Given the description of an element on the screen output the (x, y) to click on. 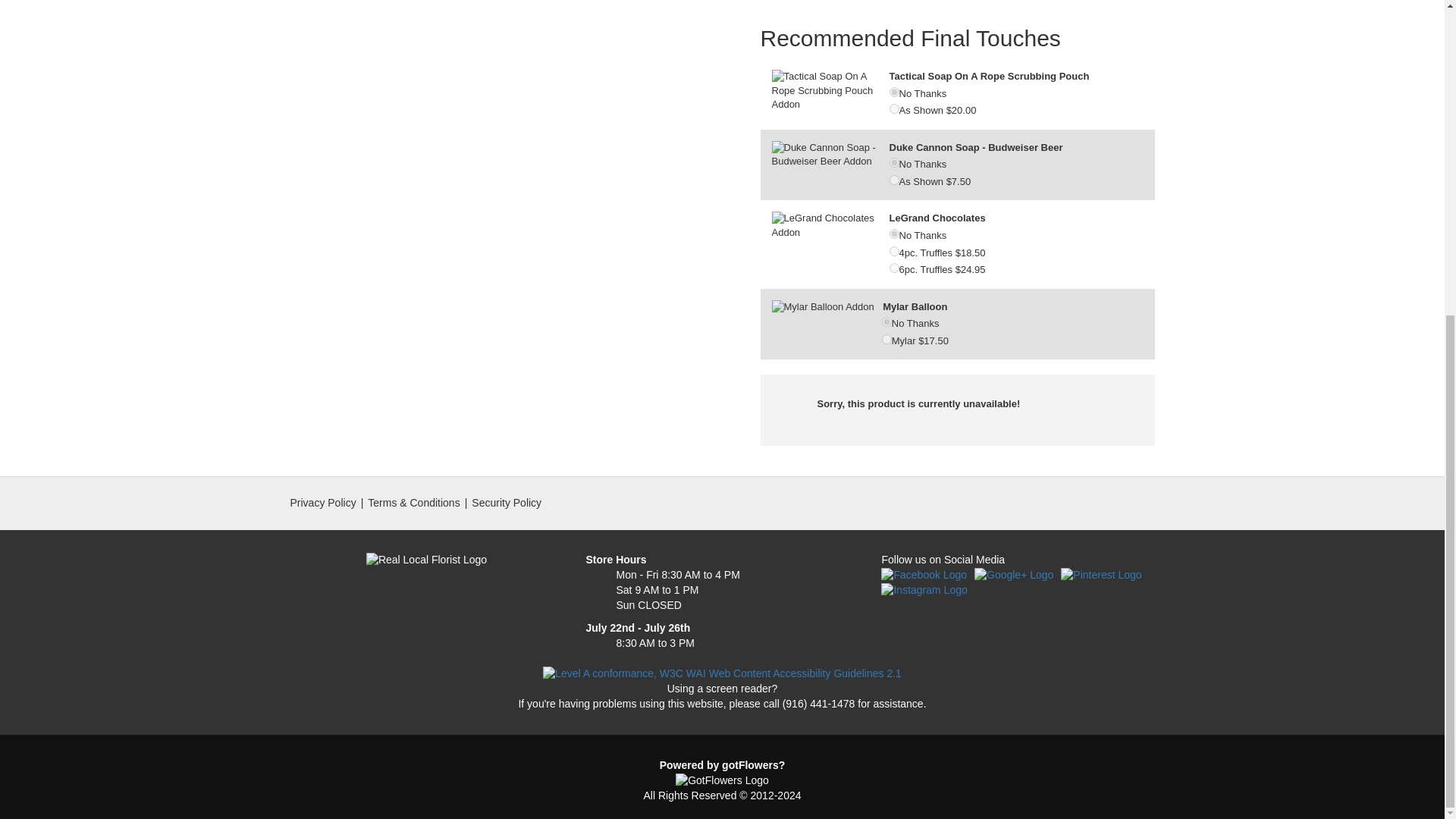
Explanation of WCAG 2 Level A Conformance (722, 673)
Security Policy (506, 502)
0 (893, 234)
1 (893, 180)
2 (893, 267)
0 (893, 162)
1 (886, 338)
0 (886, 321)
0 (893, 91)
1 (893, 251)
1 (893, 108)
Privacy Policy (322, 502)
